Given the description of an element on the screen output the (x, y) to click on. 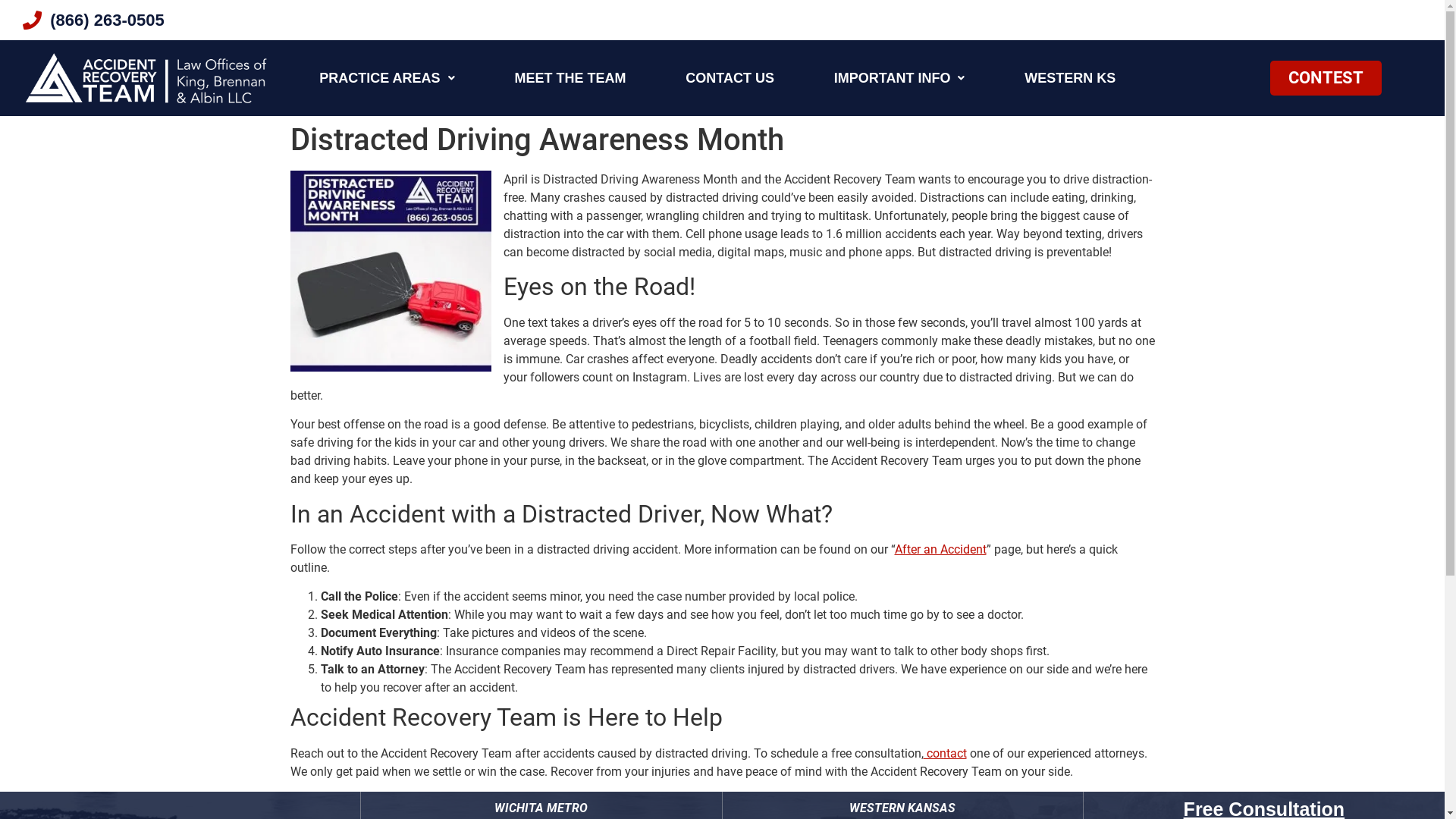
IMPORTANT INFO Element type: text (898, 77)
PRACTICE AREAS Element type: text (386, 77)
CONTEST Element type: text (1325, 77)
contact Element type: text (944, 753)
CONTACT US Element type: text (729, 77)
(866) 263-0505 Element type: text (240, 19)
MEET THE TEAM Element type: text (569, 77)
After an Accident Element type: text (940, 549)
WESTERN KS Element type: text (1069, 77)
